Given the description of an element on the screen output the (x, y) to click on. 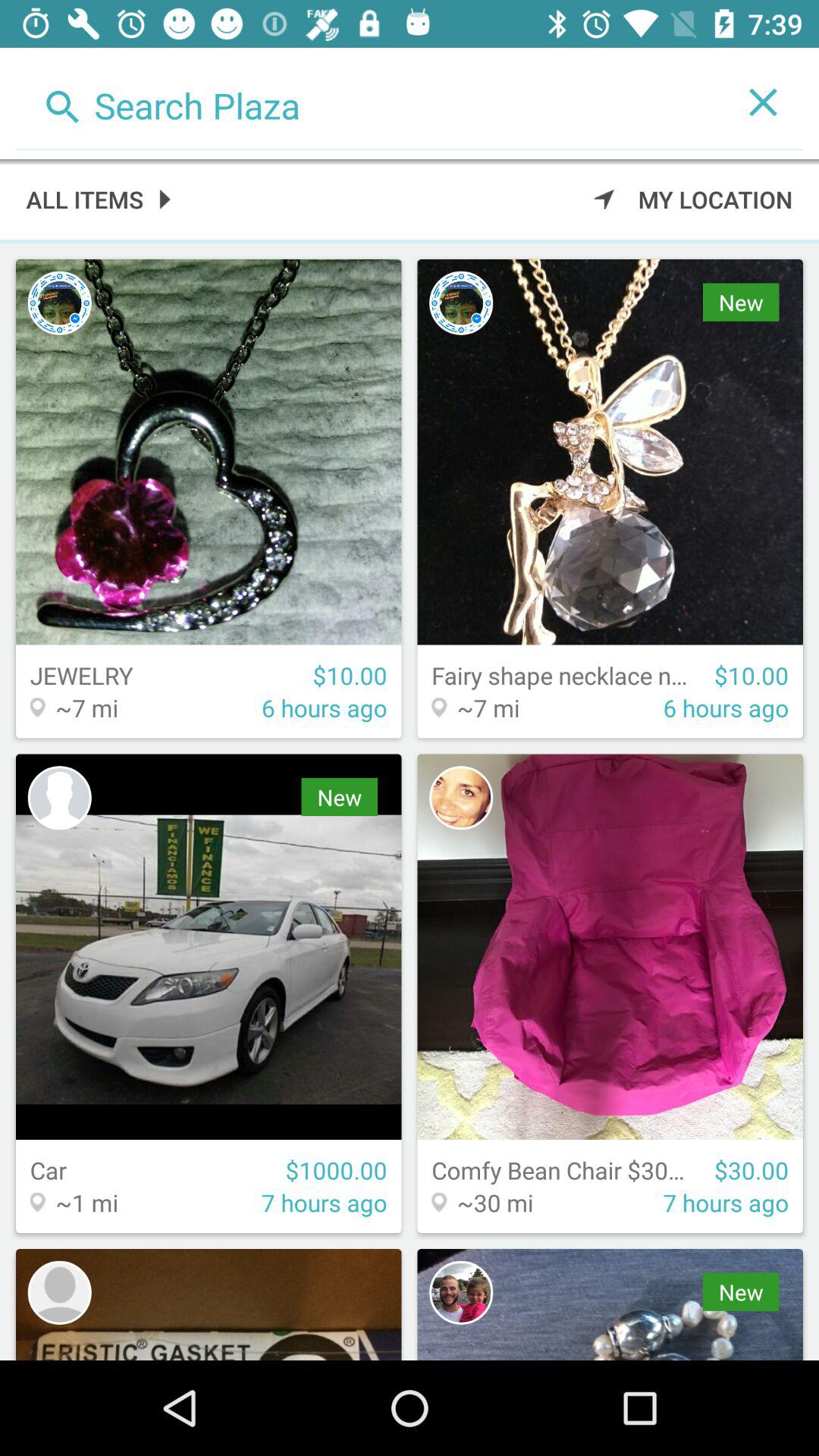
icon photo display (59, 1292)
